Given the description of an element on the screen output the (x, y) to click on. 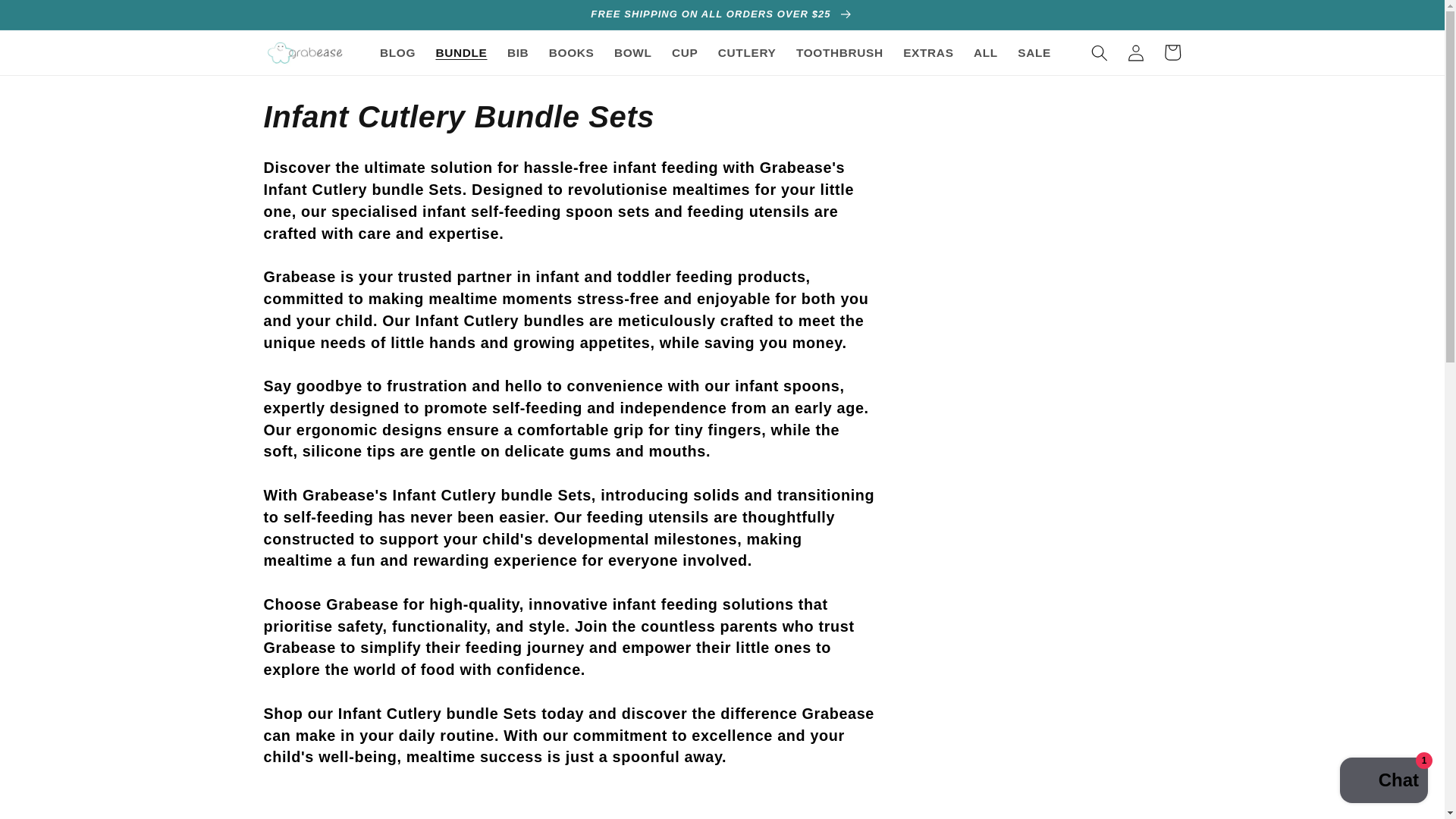
BUNDLE (460, 53)
BOWL (633, 53)
CUTLERY (746, 53)
CUP (684, 53)
ALL (985, 53)
Shopify online store chat (1383, 781)
Log in (1136, 52)
Cart (1172, 52)
BLOG (397, 53)
TOOTHBRUSH (839, 53)
Skip to content (53, 22)
SALE (1034, 53)
EXTRAS (928, 53)
BOOKS (571, 53)
BIB (517, 53)
